Given the description of an element on the screen output the (x, y) to click on. 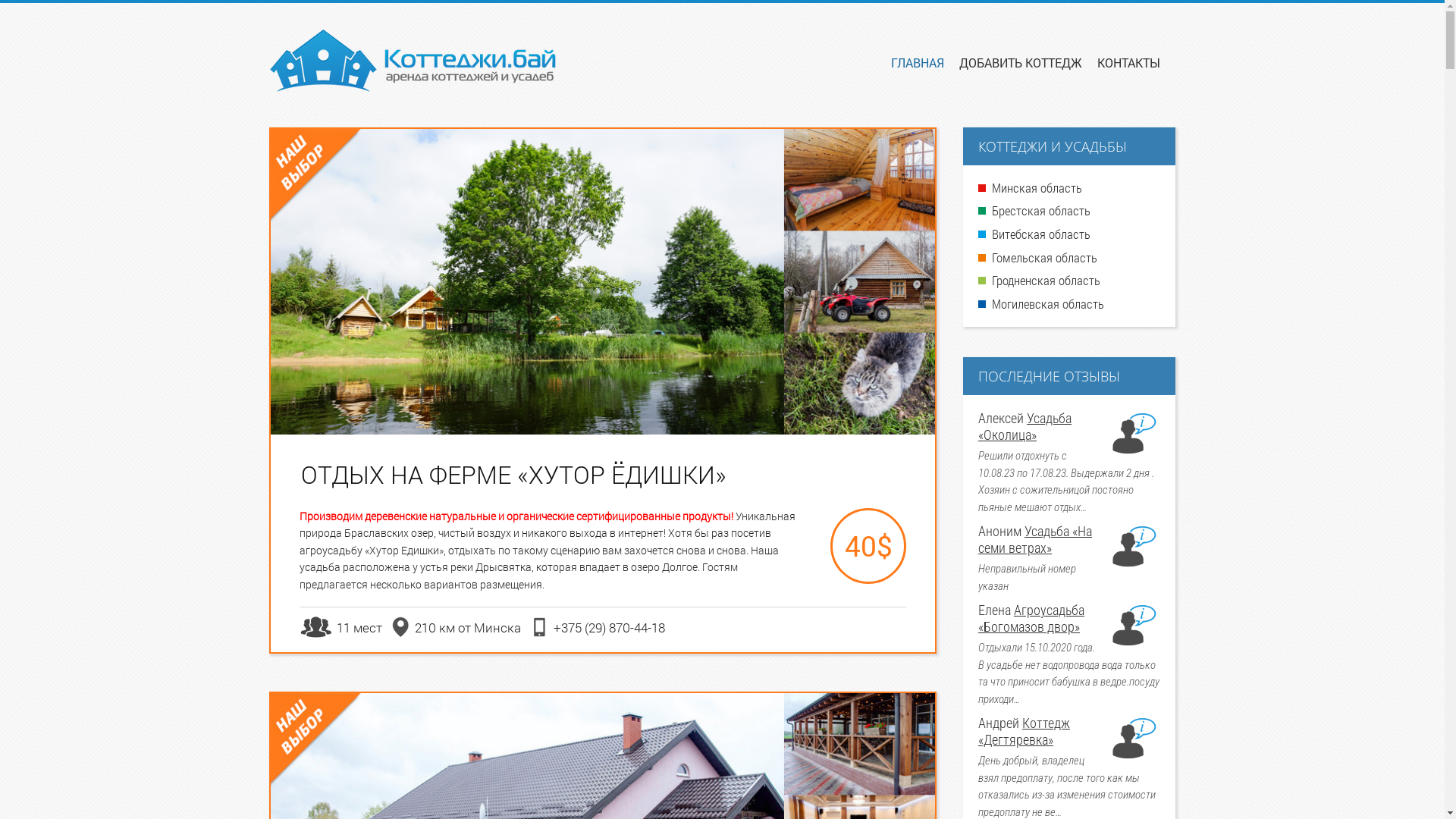
Search Element type: text (33, 14)
